Given the description of an element on the screen output the (x, y) to click on. 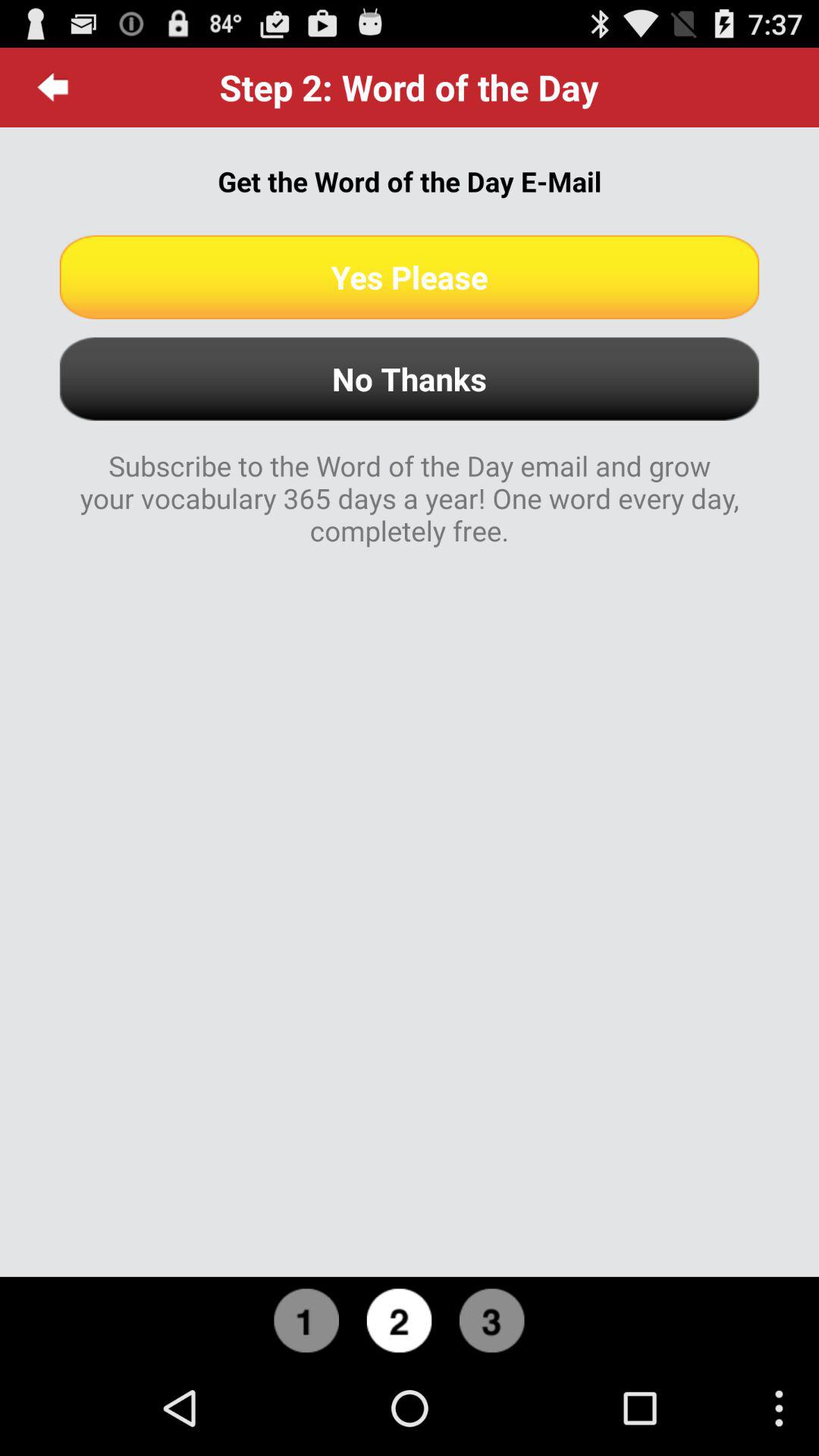
choose icon to the left of the step 2 word (53, 87)
